Given the description of an element on the screen output the (x, y) to click on. 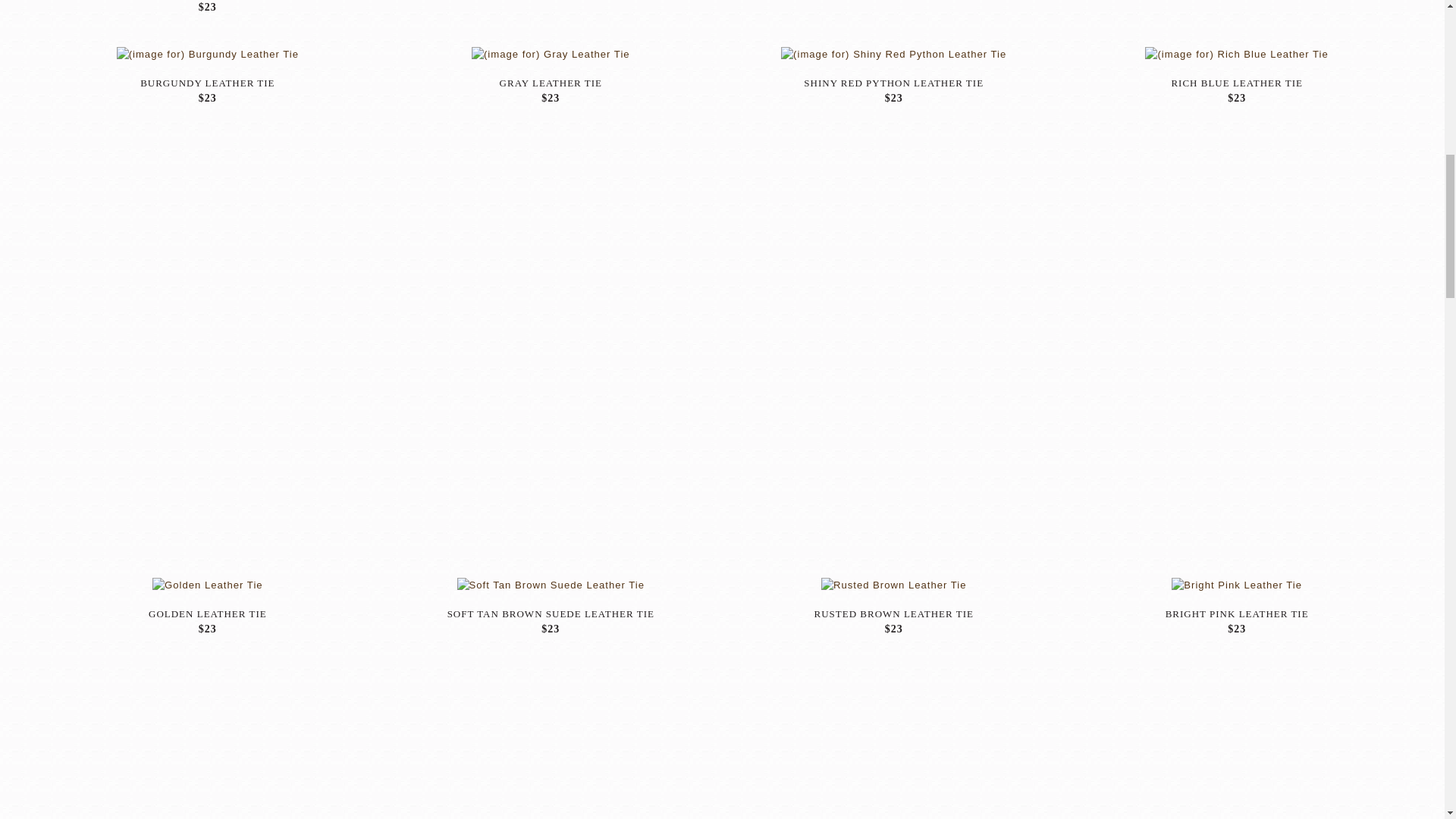
Gray Leather Tie (550, 54)
Burgundy Leather Tie (207, 54)
Shiny Red Python Leather Tie (893, 54)
